Given the description of an element on the screen output the (x, y) to click on. 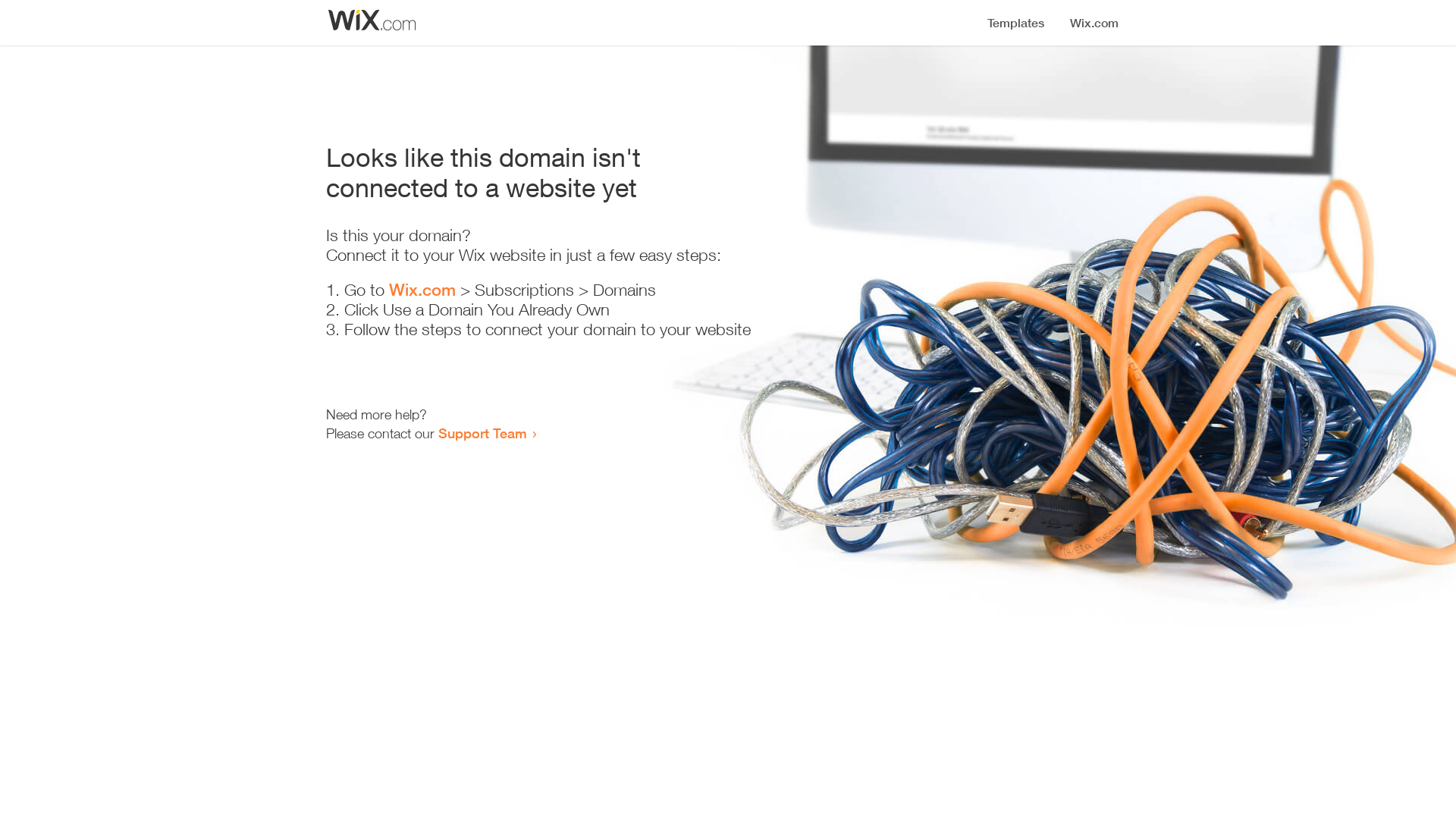
Wix.com Element type: text (422, 289)
Support Team Element type: text (482, 432)
